Given the description of an element on the screen output the (x, y) to click on. 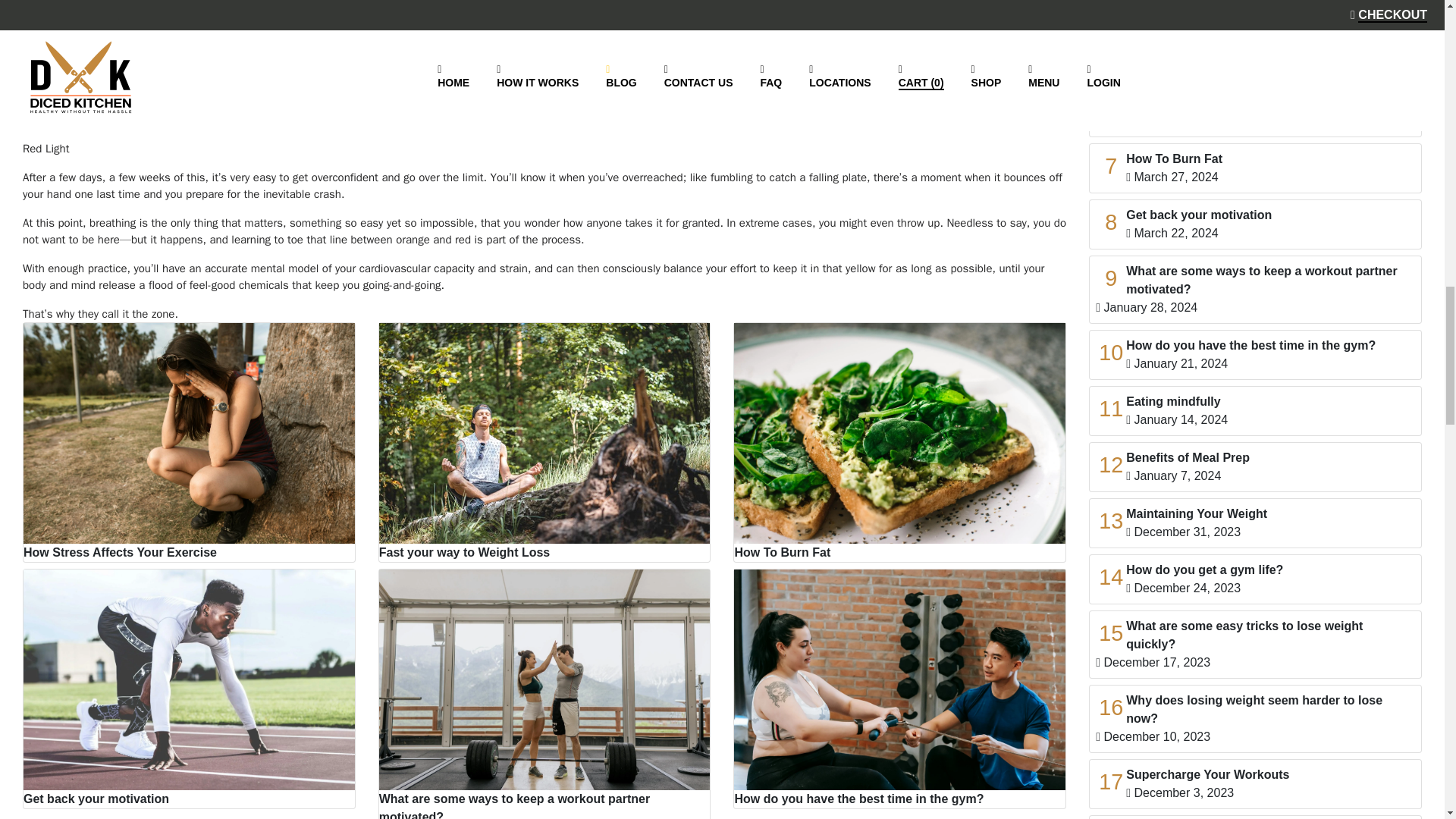
Get back your motivation (189, 688)
How do you have the best time in the gym? (899, 688)
What are some ways to keep a workout partner motivated? (544, 693)
Fast your way to Weight Loss (544, 442)
How Stress Affects Your Exercise (189, 442)
How To Burn Fat (899, 442)
